Given the description of an element on the screen output the (x, y) to click on. 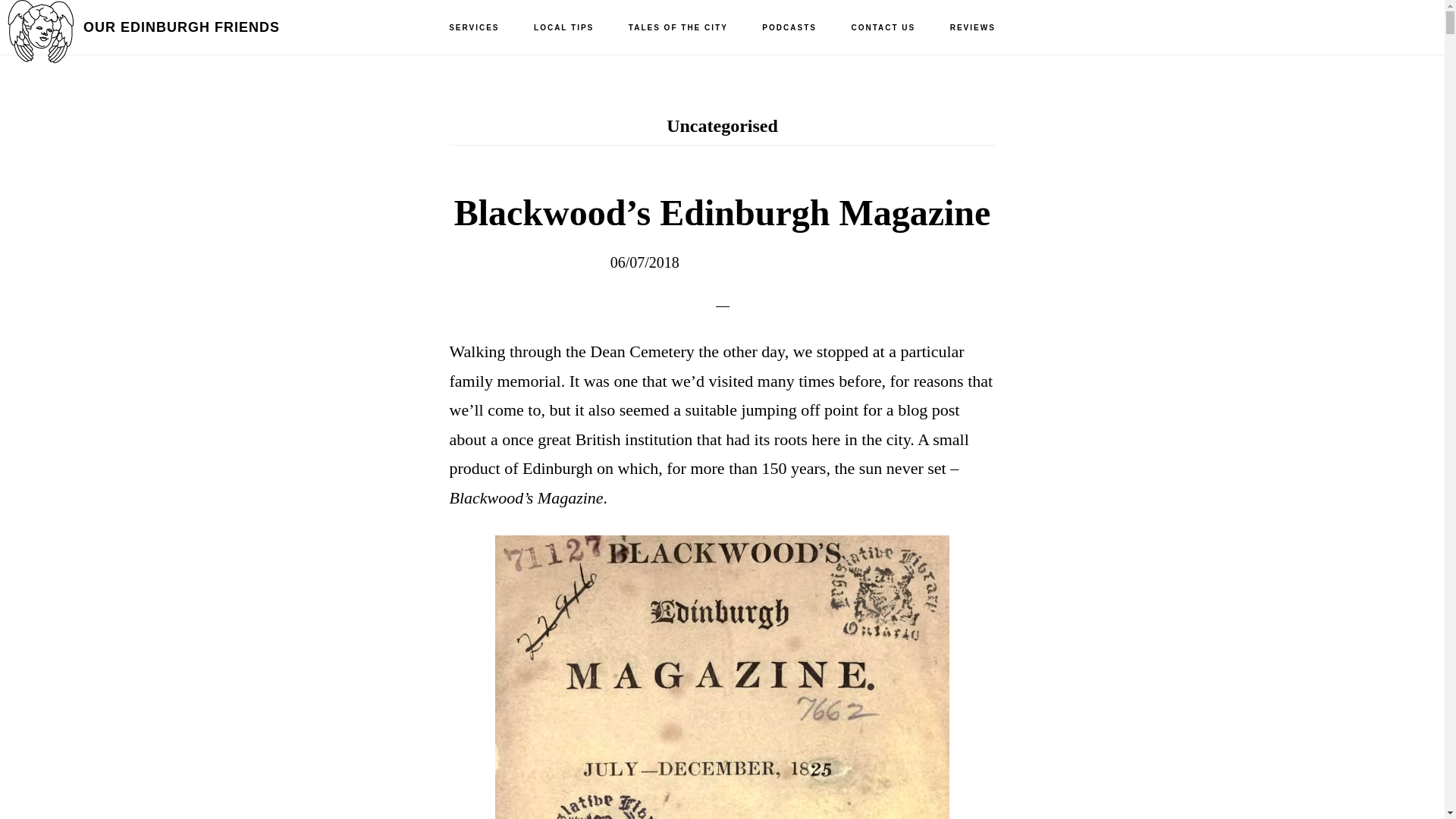
REVIEWS (972, 27)
LOCAL TIPS (563, 27)
PODCASTS (788, 27)
TALES OF THE CITY (677, 27)
OUR EDINBURGH FRIENDS (180, 27)
SERVICES (473, 27)
CONTACT US (882, 27)
